Given the description of an element on the screen output the (x, y) to click on. 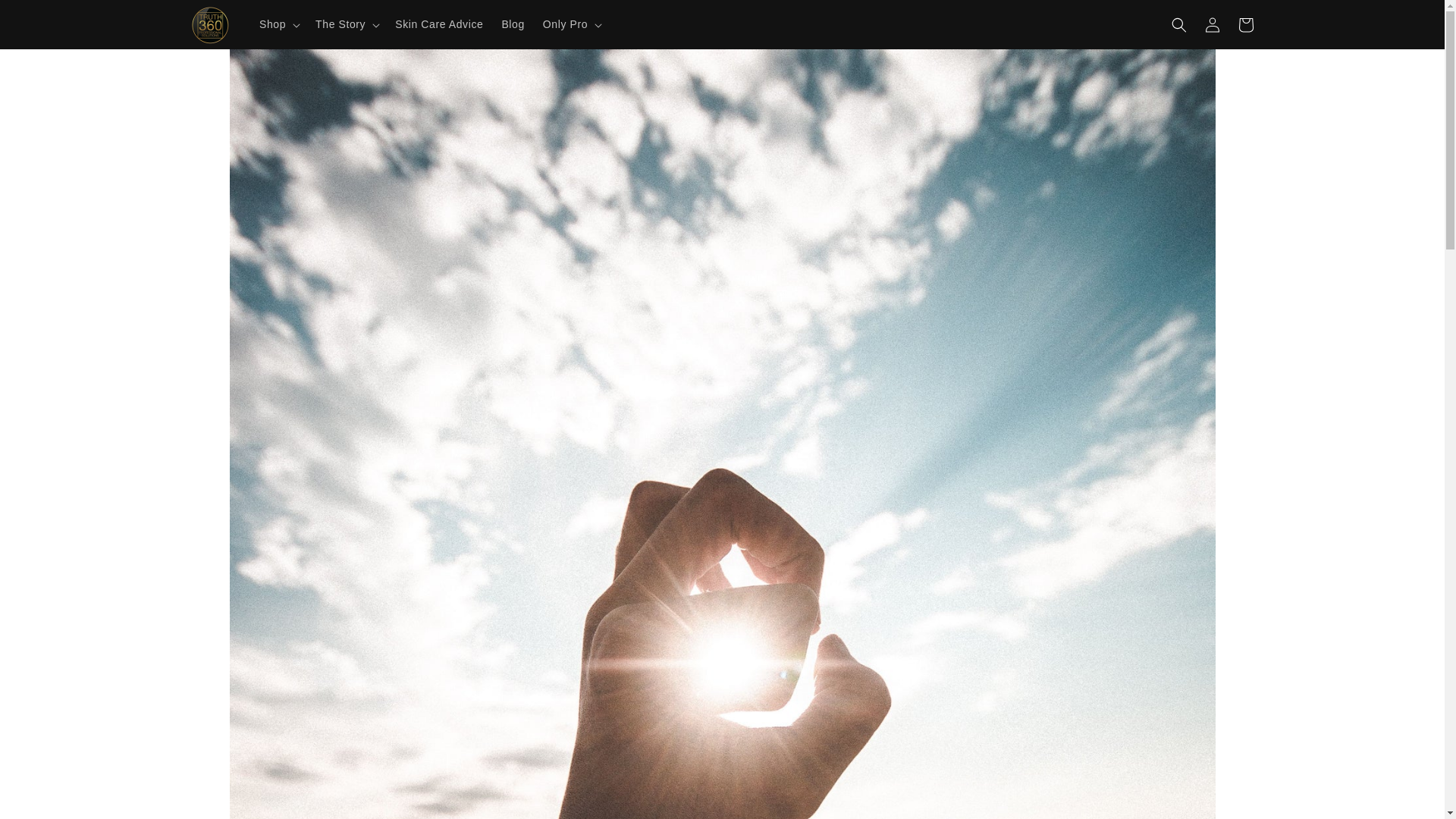
Skip to content (45, 17)
